Given the description of an element on the screen output the (x, y) to click on. 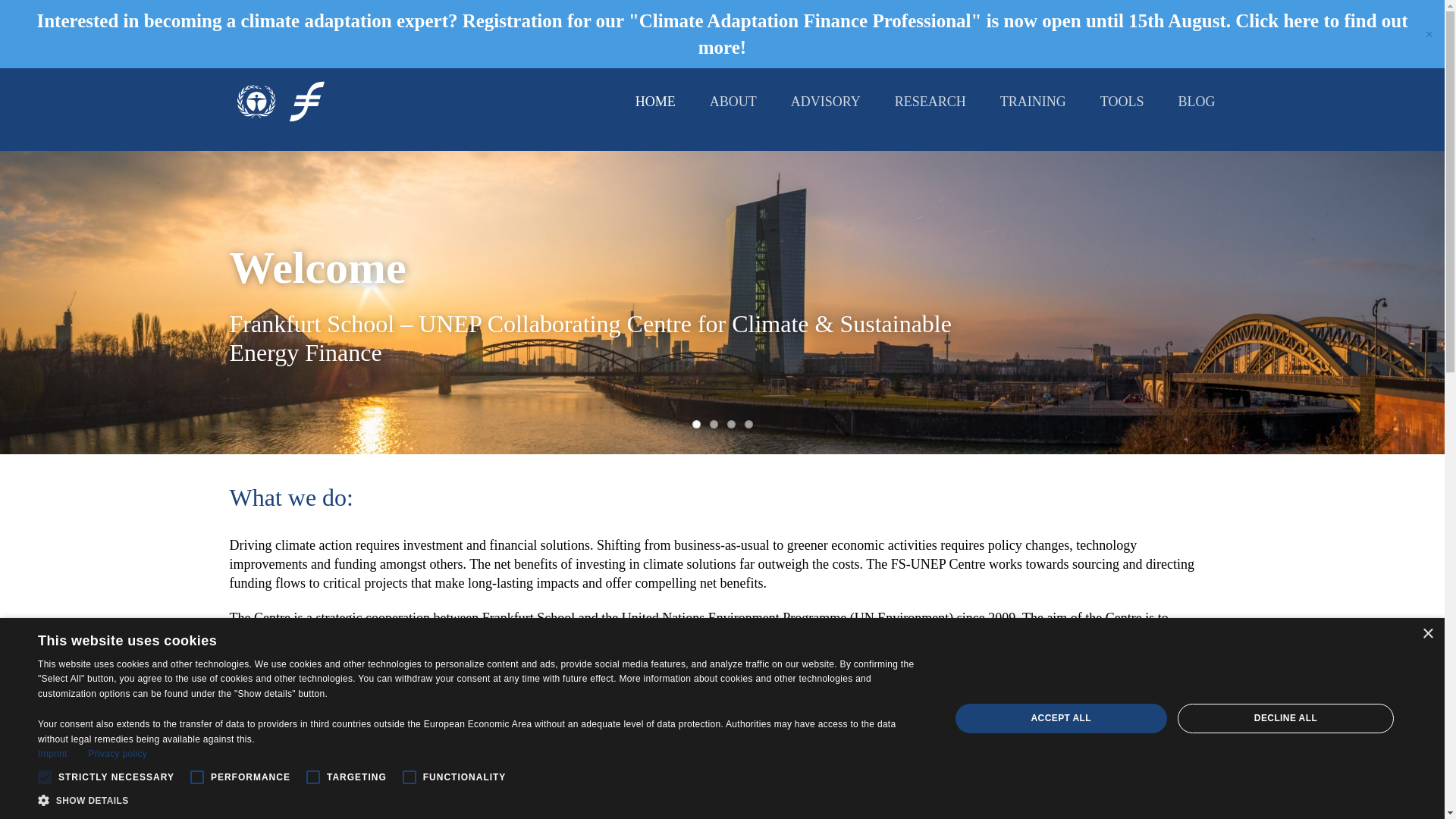
3 (730, 424)
4 (748, 424)
2 (713, 424)
1 (695, 424)
